Given the description of an element on the screen output the (x, y) to click on. 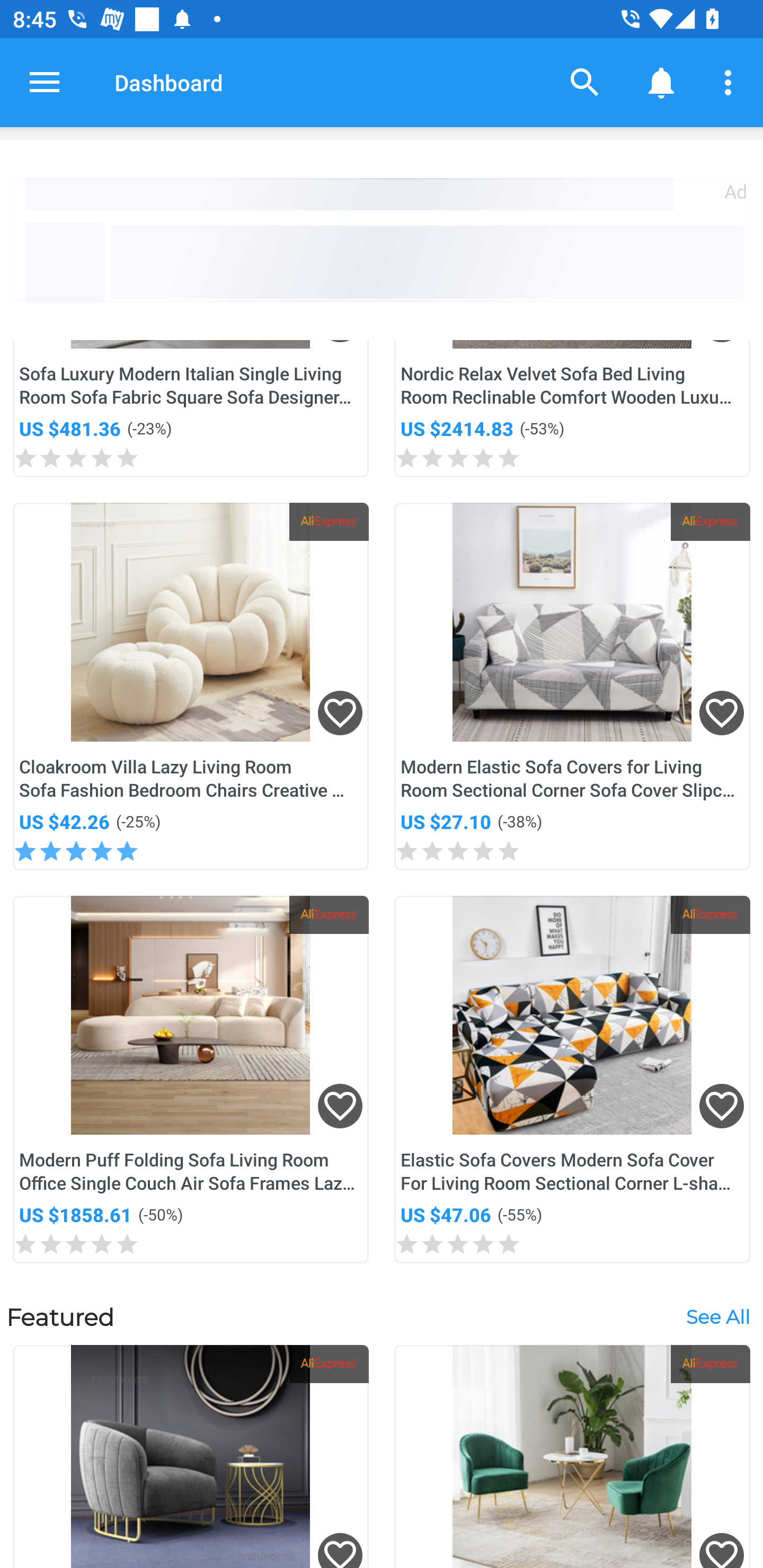
Open navigation drawer (44, 82)
Search (585, 81)
More options (731, 81)
See All (717, 1316)
